Given the description of an element on the screen output the (x, y) to click on. 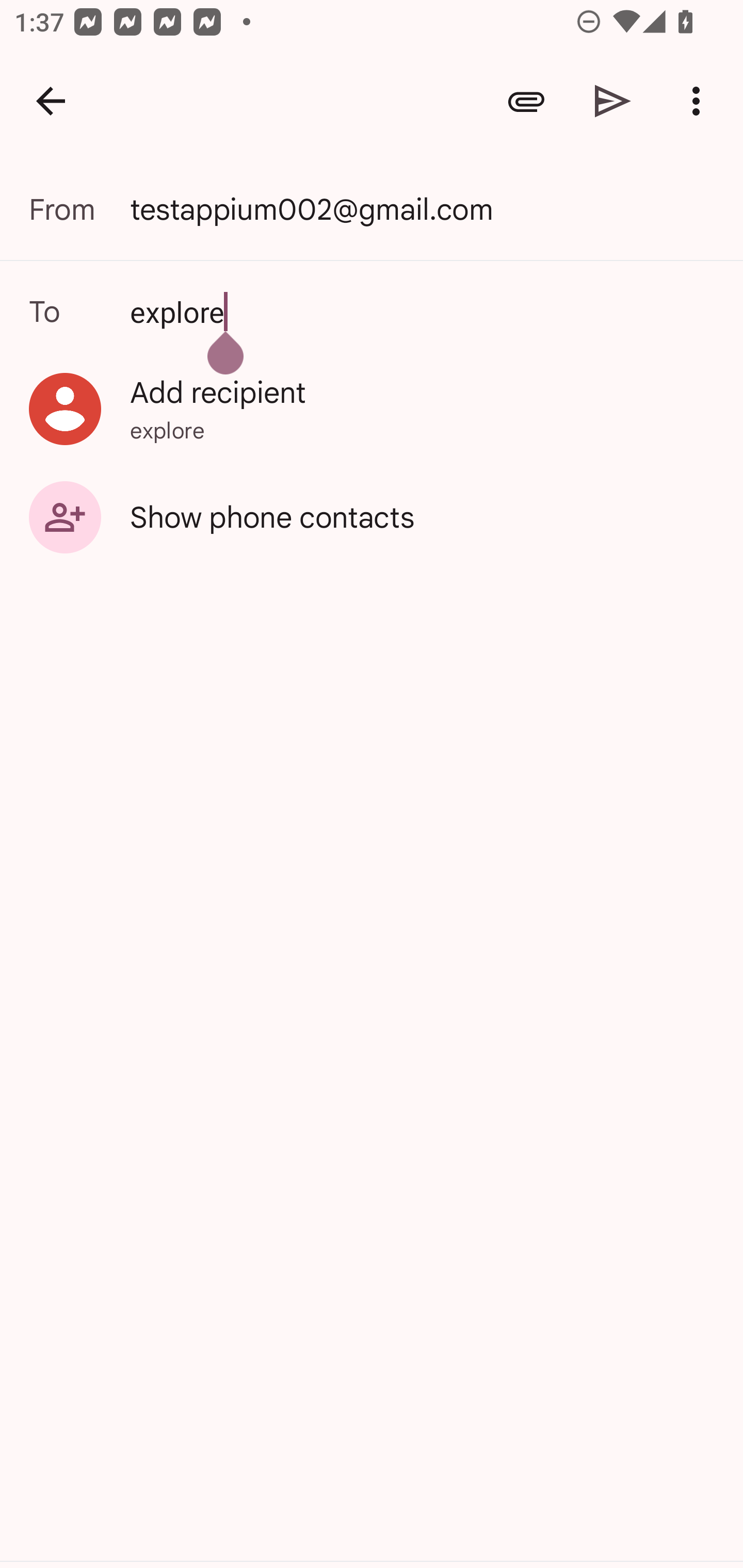
Navigate up (50, 101)
Attach file (525, 101)
Send (612, 101)
More options (699, 101)
From (79, 209)
explore (371, 311)
explore (425, 311)
Add recipient explore (371, 408)
Show phone contacts (371, 516)
